Given the description of an element on the screen output the (x, y) to click on. 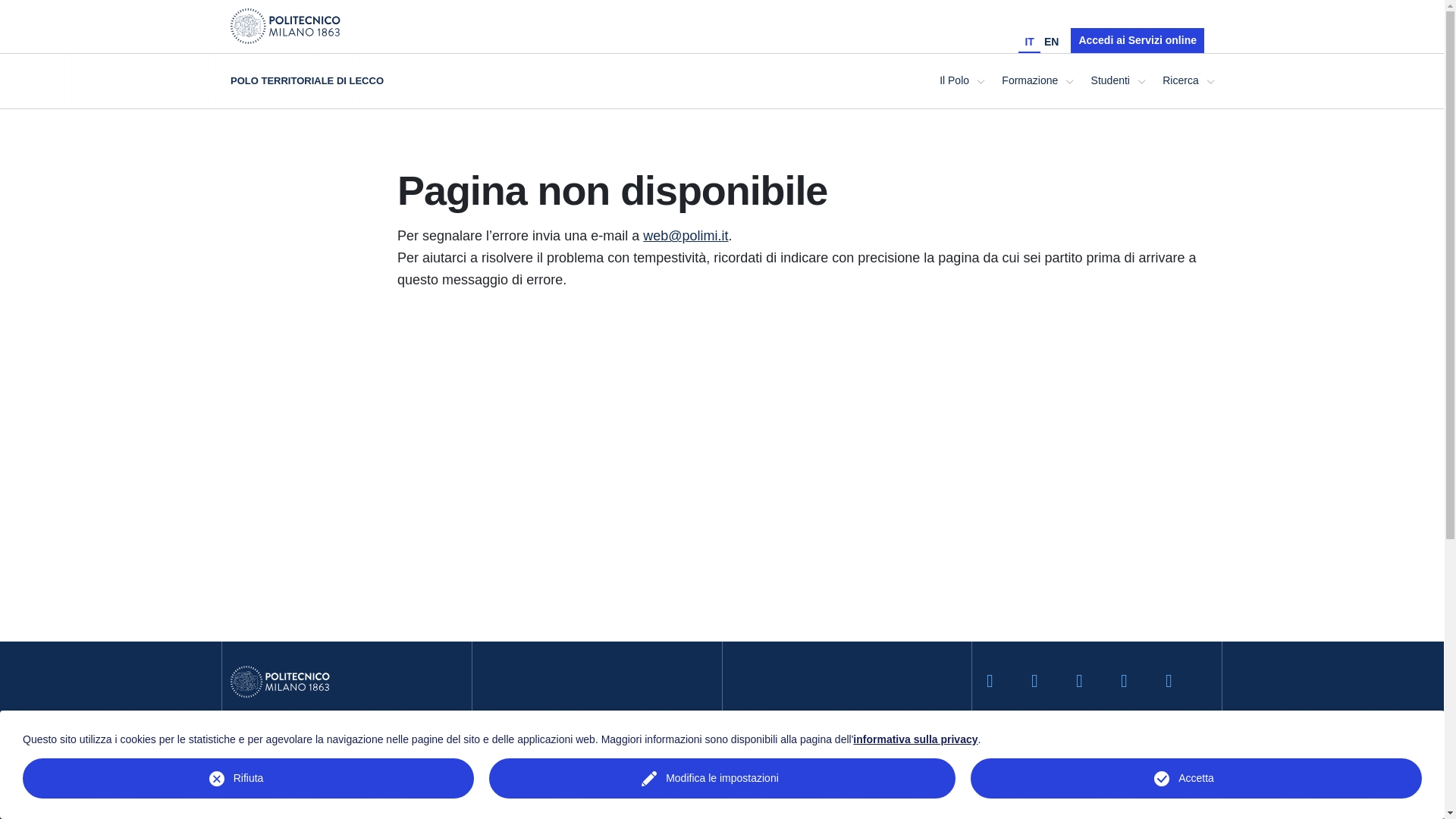
Polo Territoriale di Lecco  (346, 80)
Italiano (1028, 41)
EN (1050, 41)
Il Polo (961, 81)
Accedi ai Servizi online (1137, 40)
IT (1028, 41)
Vai al sito Polimi (285, 24)
English (1050, 41)
POLO TERRITORIALE DI LECCO (346, 80)
Accedi ai Servizi online (1137, 40)
